Given the description of an element on the screen output the (x, y) to click on. 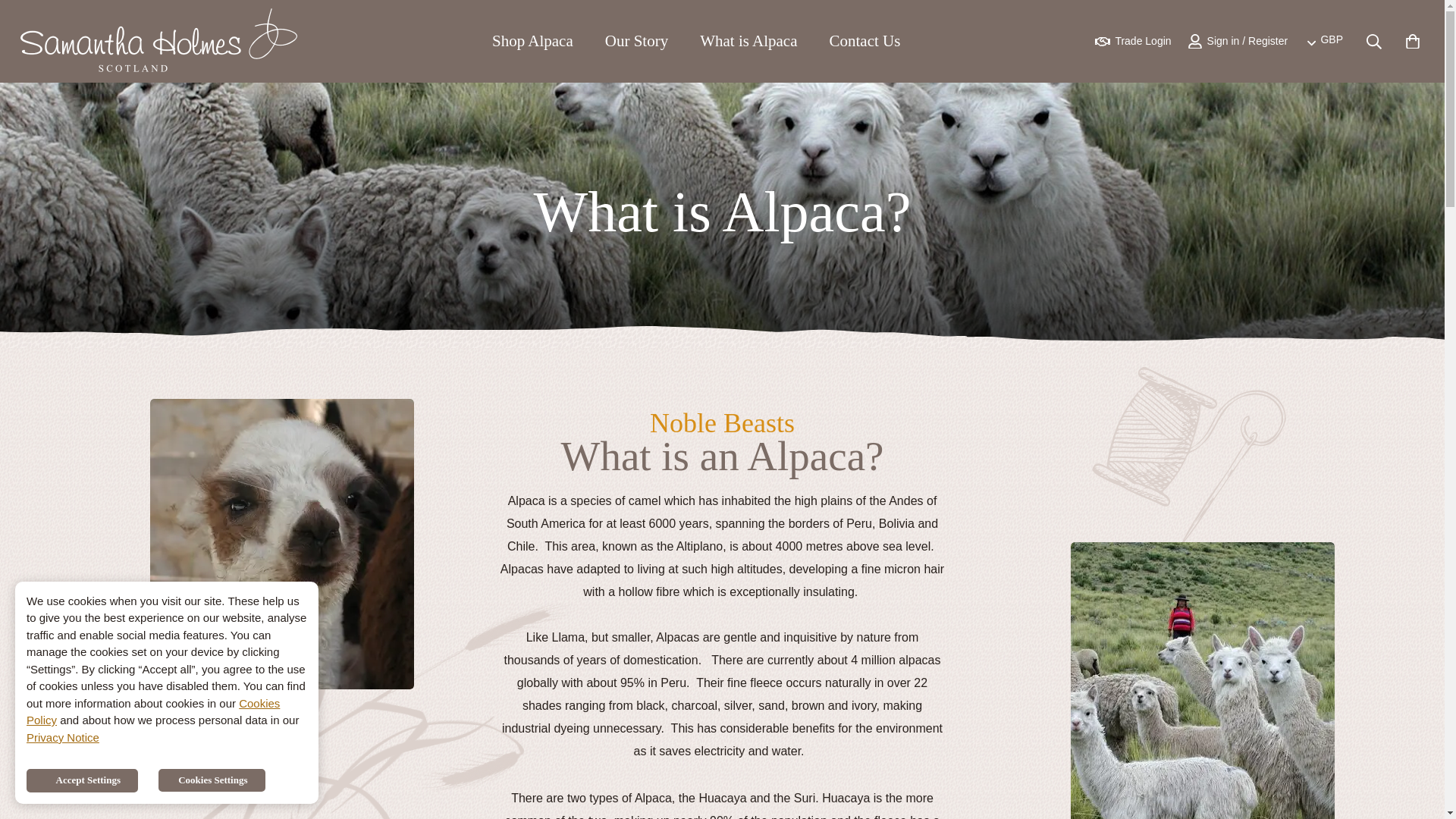
Search (1374, 41)
What is Alpaca (748, 40)
Trade Login (1324, 40)
Our Story (1132, 41)
Bag (636, 40)
Shop Alpaca (1411, 41)
Contact Us (532, 40)
